Given the description of an element on the screen output the (x, y) to click on. 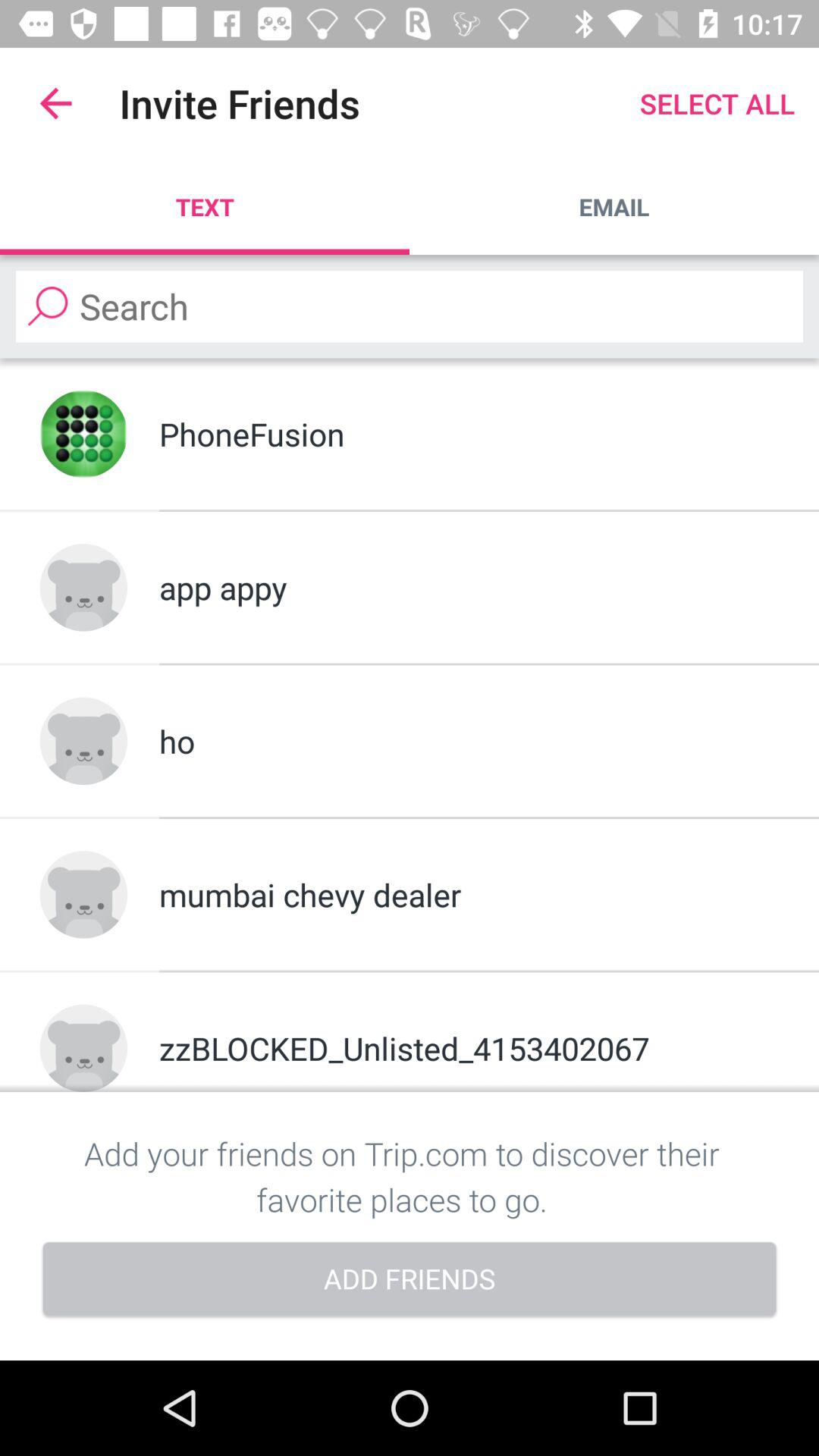
choose the item below the mumbai chevy dealer icon (469, 1048)
